Given the description of an element on the screen output the (x, y) to click on. 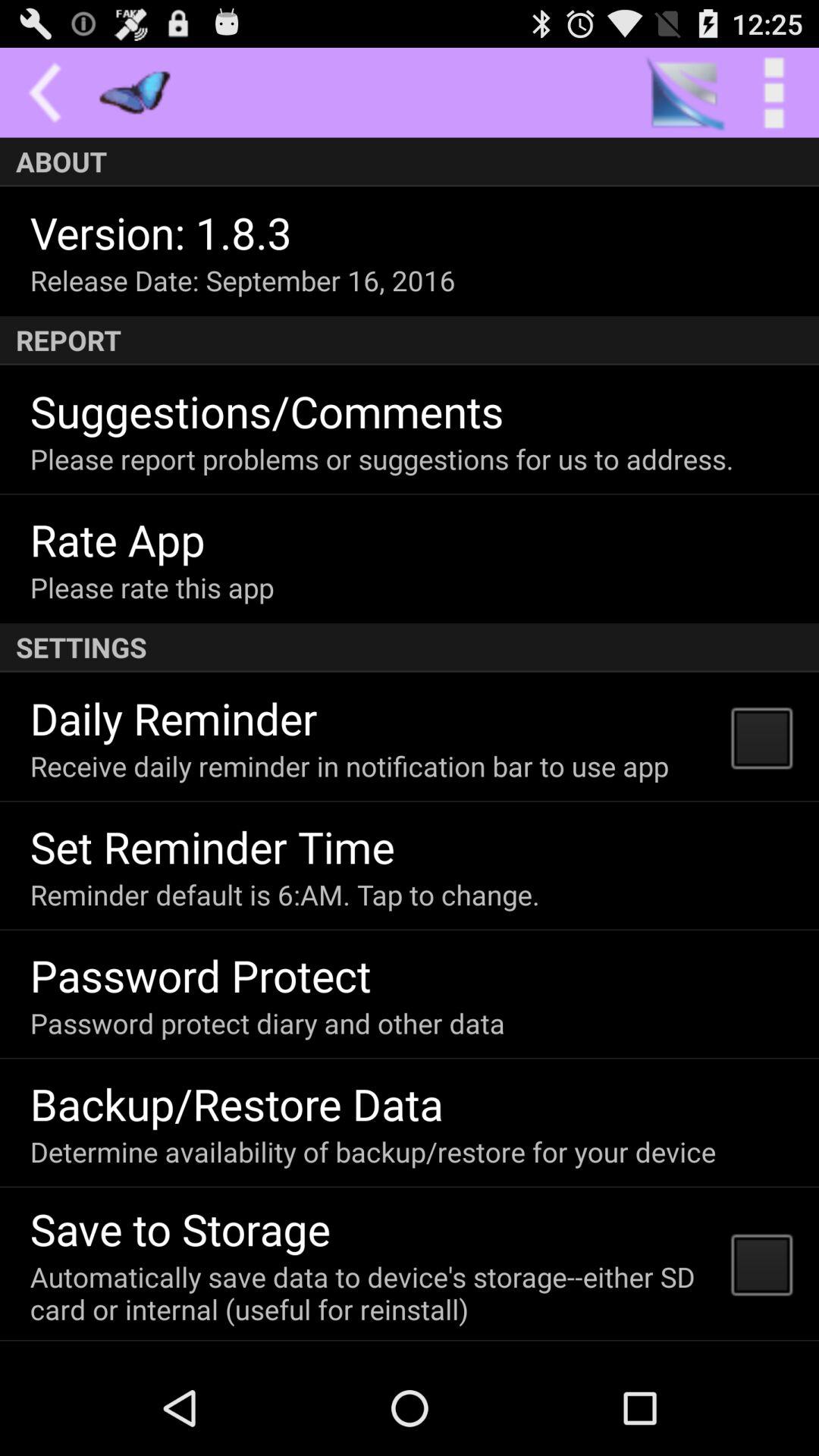
scroll to reminder default is item (284, 894)
